Given the description of an element on the screen output the (x, y) to click on. 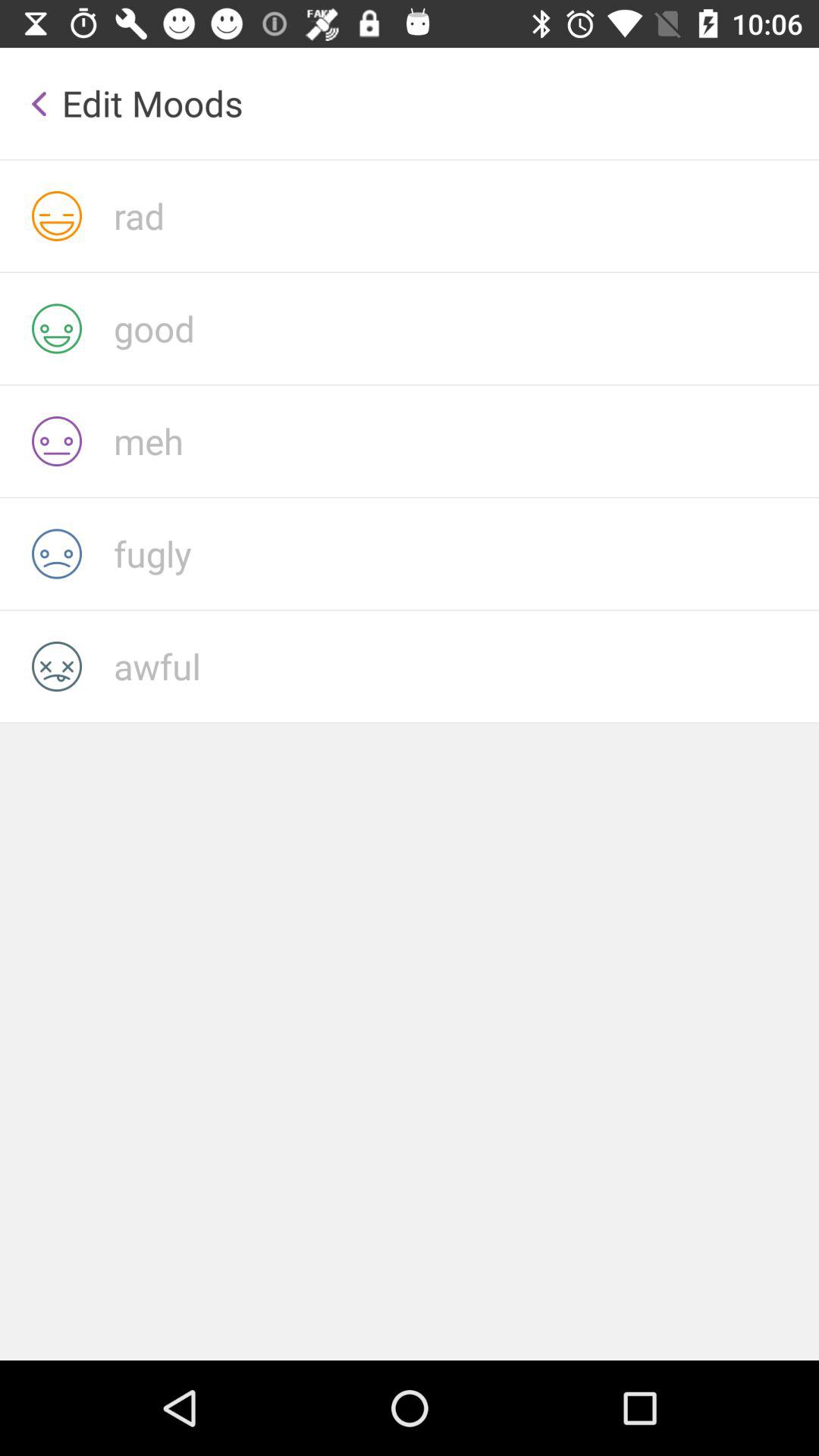
edit fugly mood (466, 553)
